Given the description of an element on the screen output the (x, y) to click on. 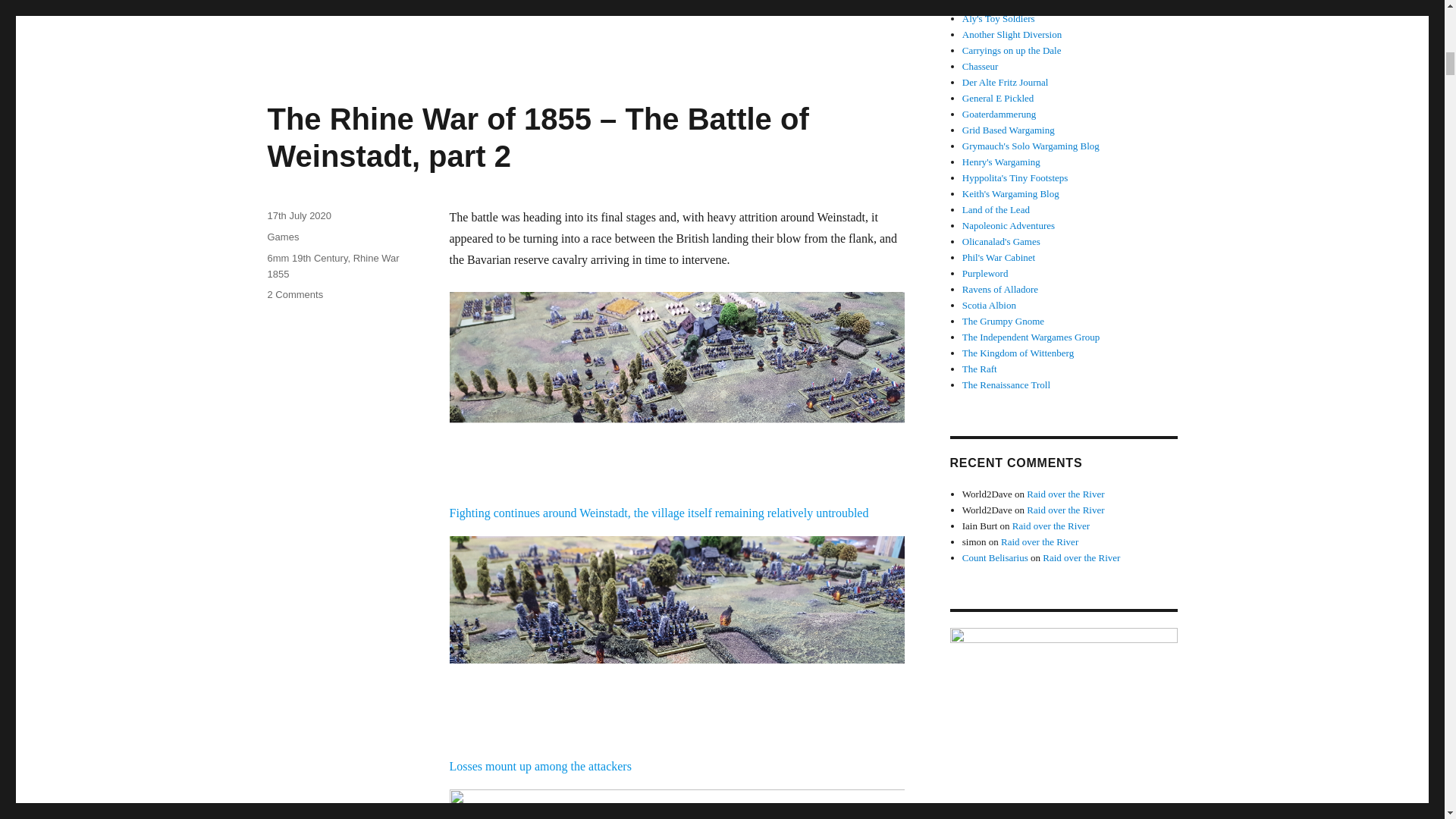
17th July 2020 (298, 215)
Rhine War 1855 (332, 266)
6mm 19th Century (306, 257)
Games (282, 236)
